Given the description of an element on the screen output the (x, y) to click on. 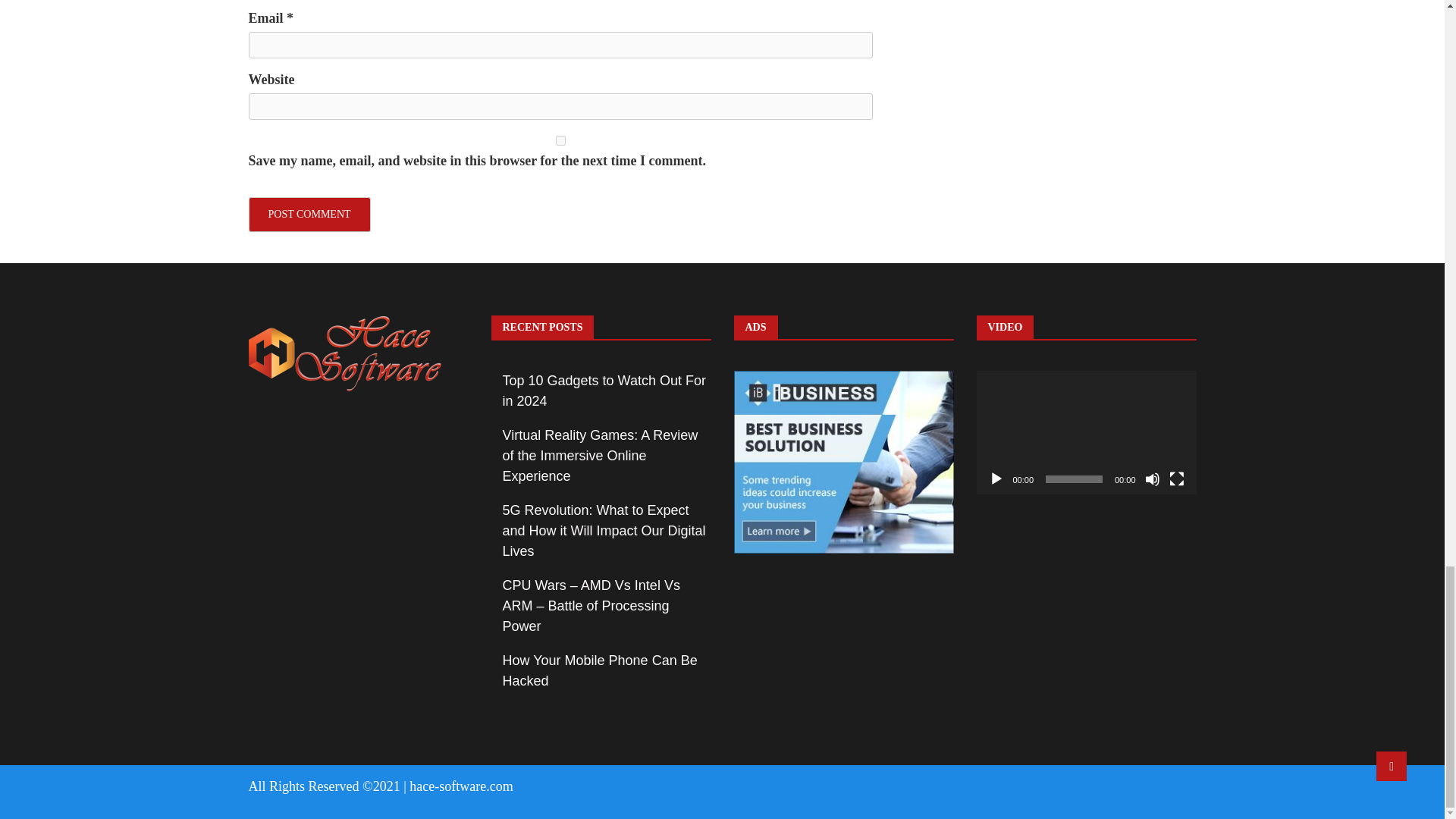
Post Comment (309, 214)
Mute (1152, 478)
Fullscreen (1177, 478)
yes (560, 140)
Post Comment (309, 214)
Play (996, 478)
